Given the description of an element on the screen output the (x, y) to click on. 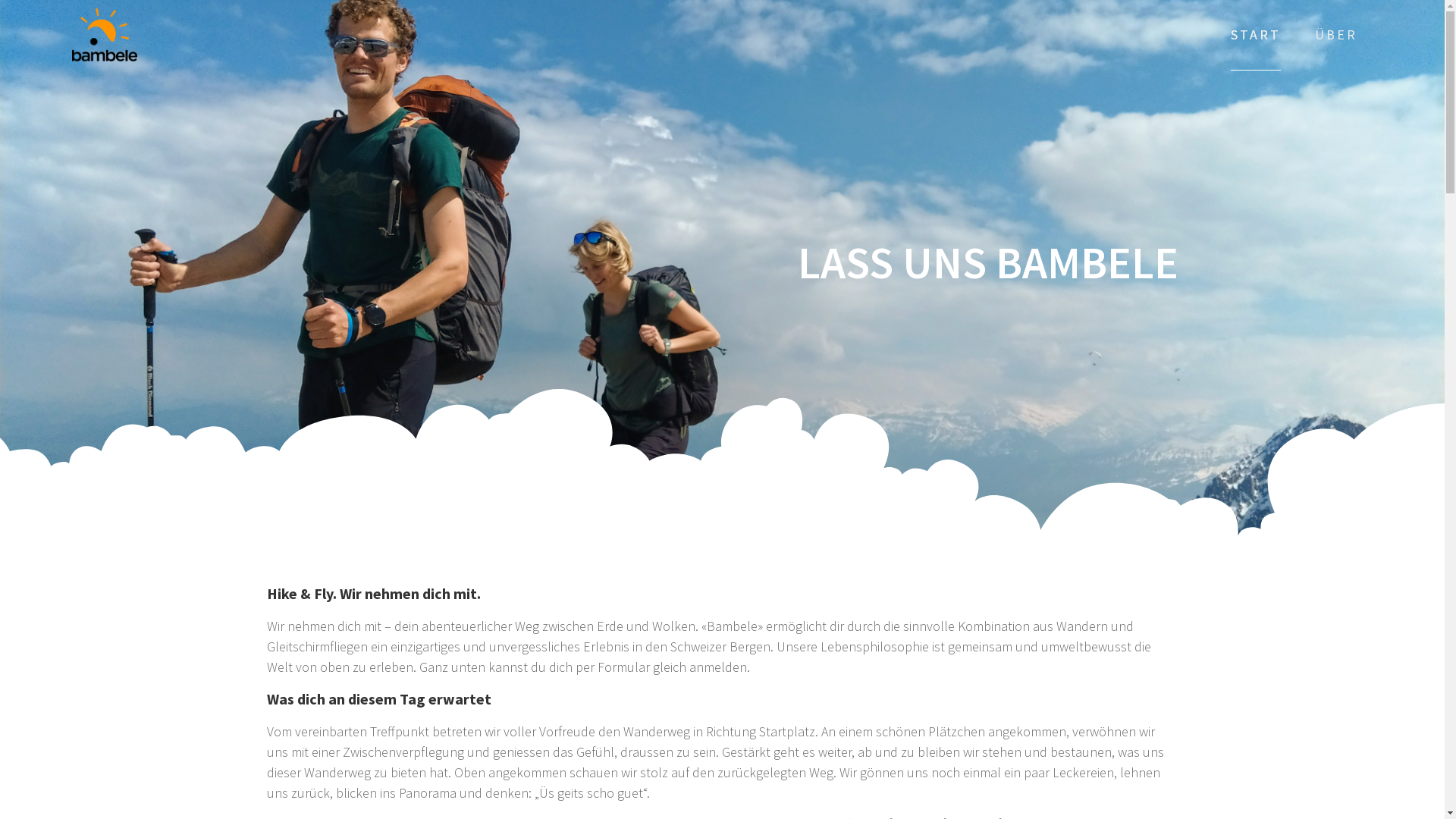
START Element type: text (1255, 35)
